Given the description of an element on the screen output the (x, y) to click on. 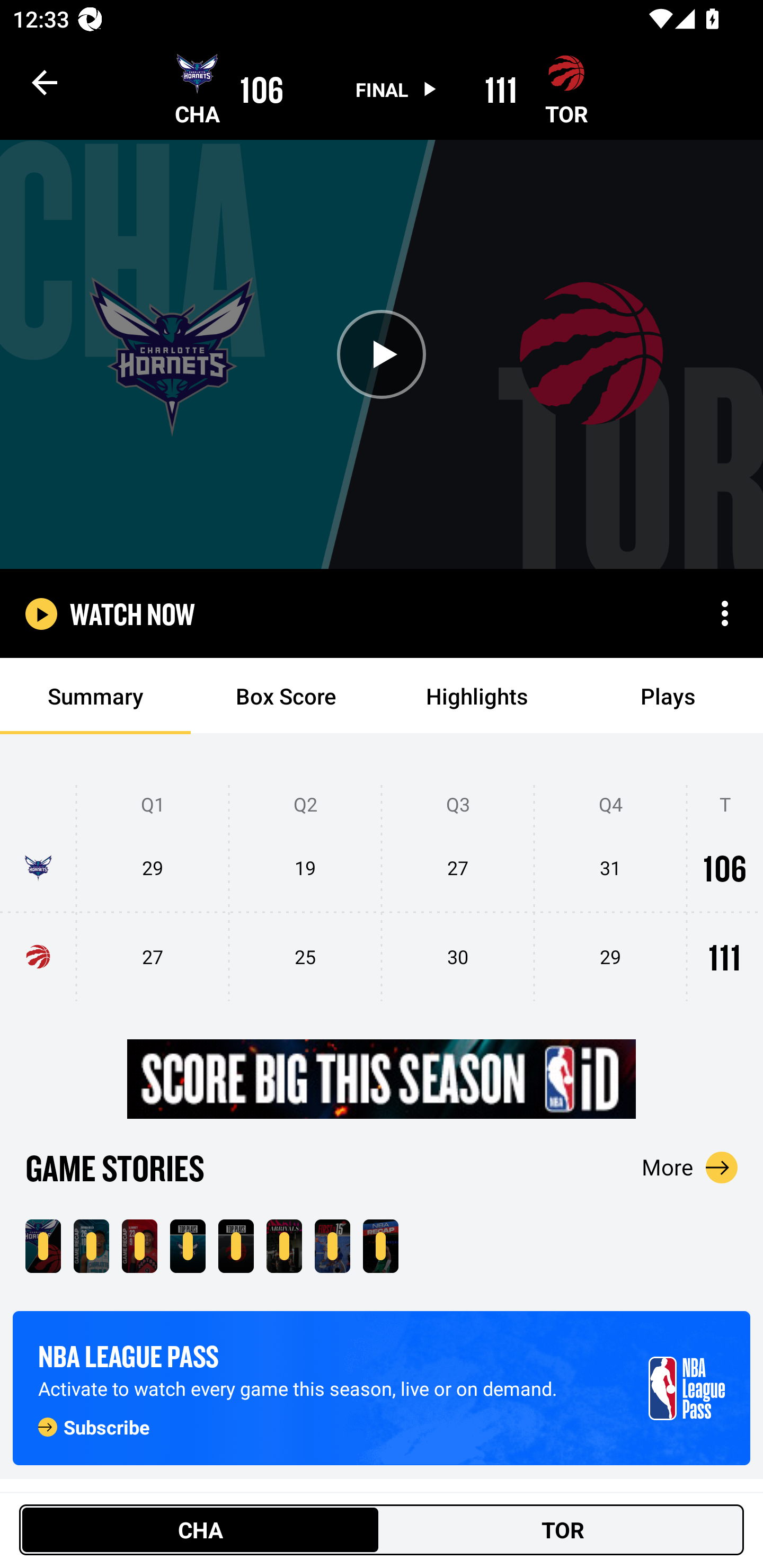
Navigate up (44, 82)
More options (724, 613)
WATCH NOW (132, 613)
Box Score (285, 695)
Highlights (476, 695)
Plays (667, 695)
Q1 Q2 Q3 Q4 T 29 19 27 31 106 27 25 30 29 111 (381, 893)
More (689, 1166)
NEW TOR 111, CHA 106 - Mar 3 (43, 1246)
NEW Highlights From Brandon Miller's 26-Point Game (91, 1246)
NEW Highlights From RJ Barrett's 23-Point Game (139, 1246)
NEW CHA's Top Plays from CHA vs. TOR (187, 1246)
NEW TOR's Top Plays from CHA vs. TOR (236, 1246)
Steppin' Into Sunday 🔥 NEW (284, 1246)
First To 15, Mar. 3rd NEW (332, 1246)
Sunday's Recap NEW (380, 1246)
TOR (562, 1529)
